Given the description of an element on the screen output the (x, y) to click on. 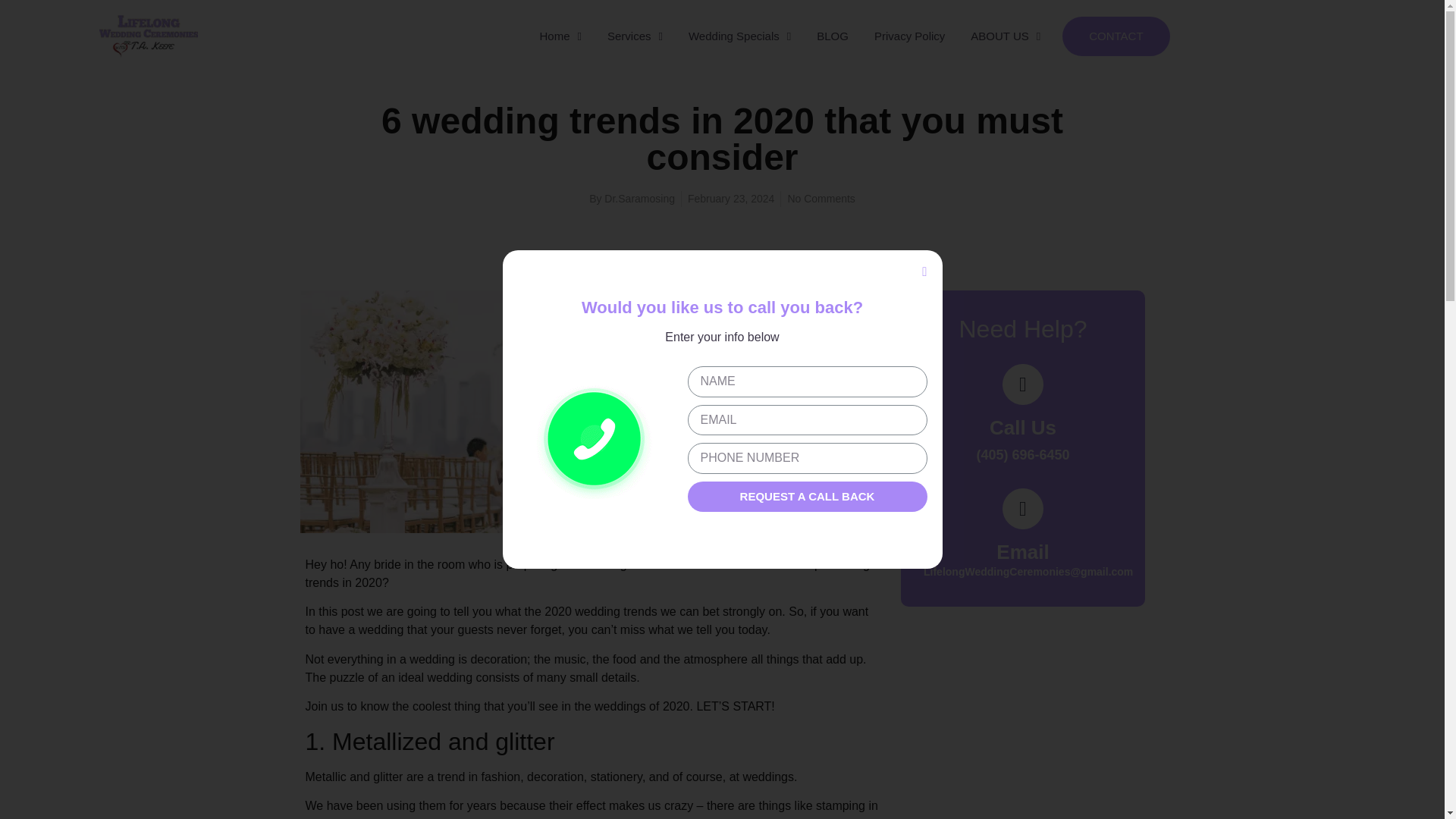
BLOG (832, 36)
Home (559, 36)
Wedding Specials (739, 36)
Privacy Policy (909, 36)
ABOUT US (1005, 36)
Services (634, 36)
CONTACT (1115, 36)
